Given the description of an element on the screen output the (x, y) to click on. 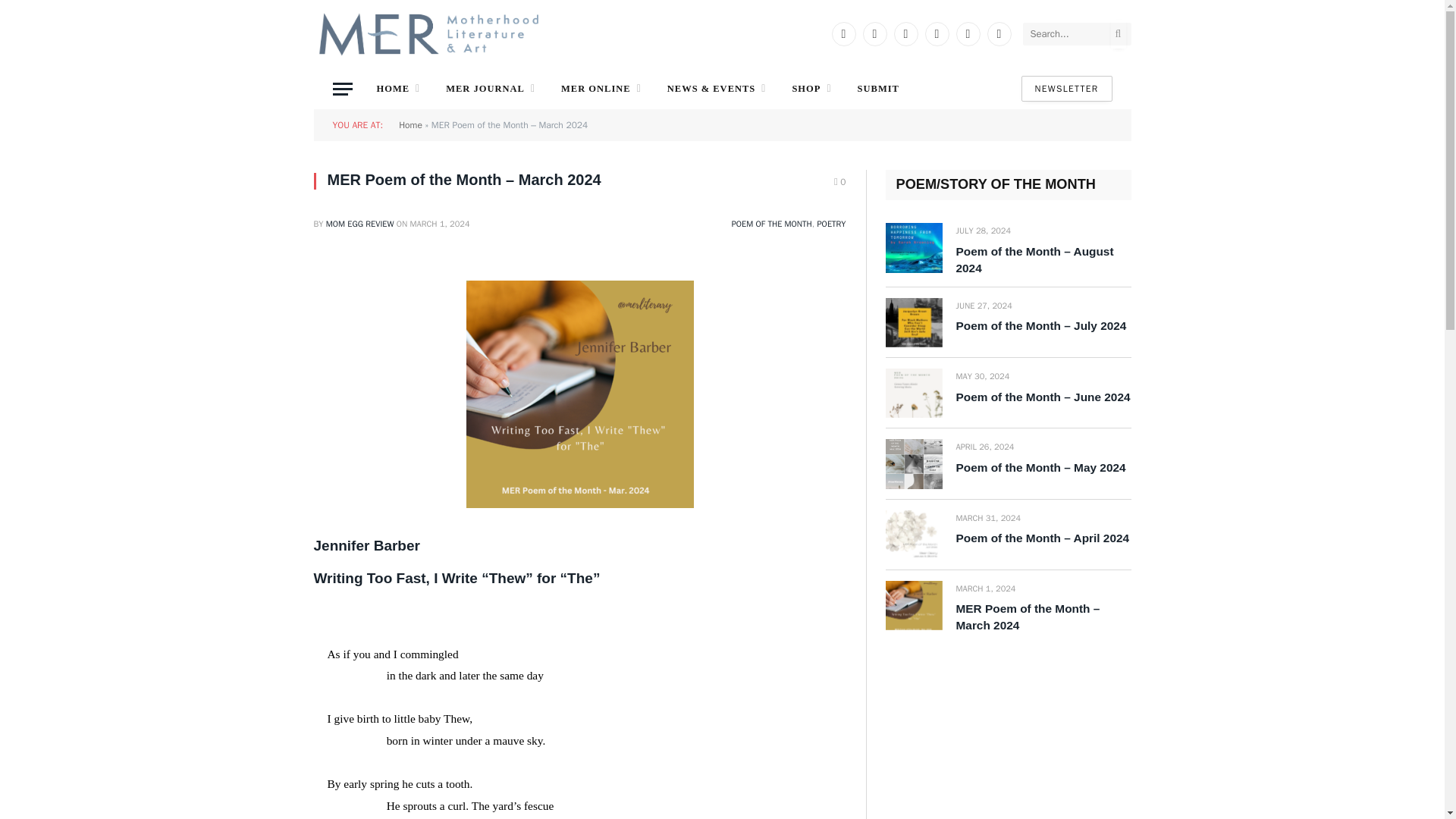
Page 30 (579, 731)
Posts by Mom Egg Review (360, 223)
2024-03-01 (440, 223)
